Given the description of an element on the screen output the (x, y) to click on. 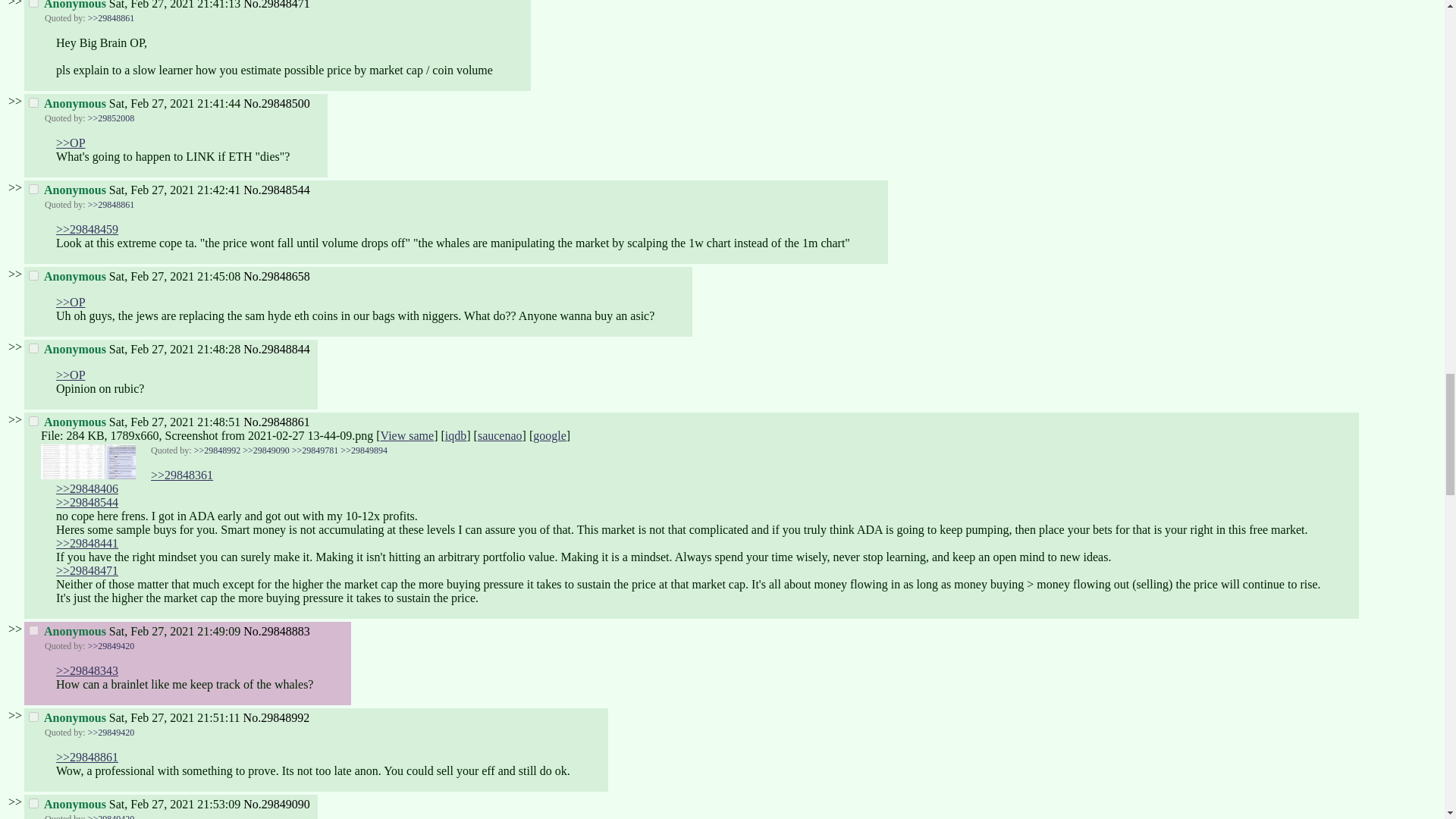
1614433273000 (174, 4)
1614433304000 (174, 103)
1614433361000 (174, 189)
